Given the description of an element on the screen output the (x, y) to click on. 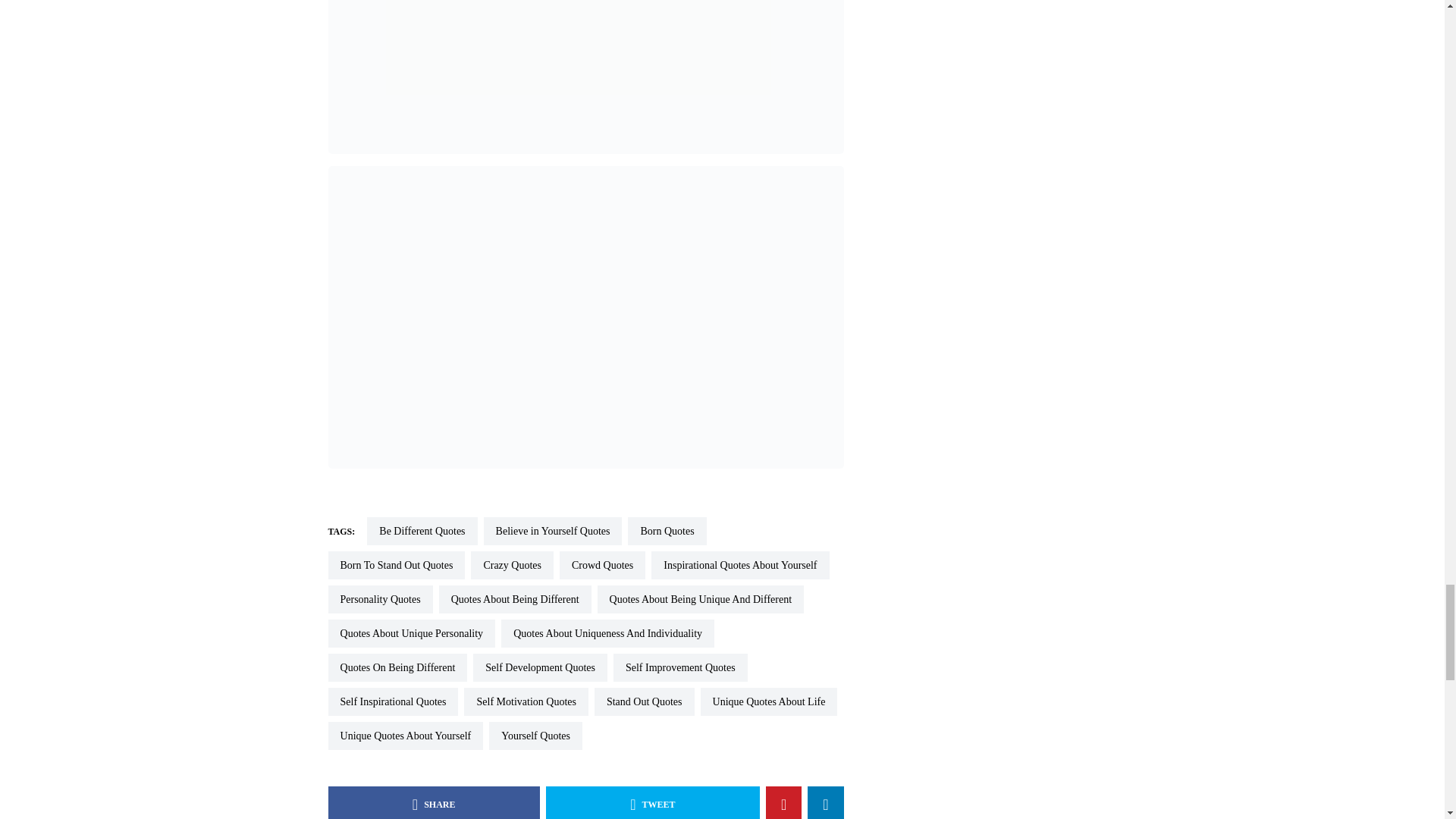
Believe in Yourself Quotes (553, 530)
Born Quotes (666, 530)
Born To Stand Out Quotes (395, 565)
Be Different Quotes (421, 530)
